Given the description of an element on the screen output the (x, y) to click on. 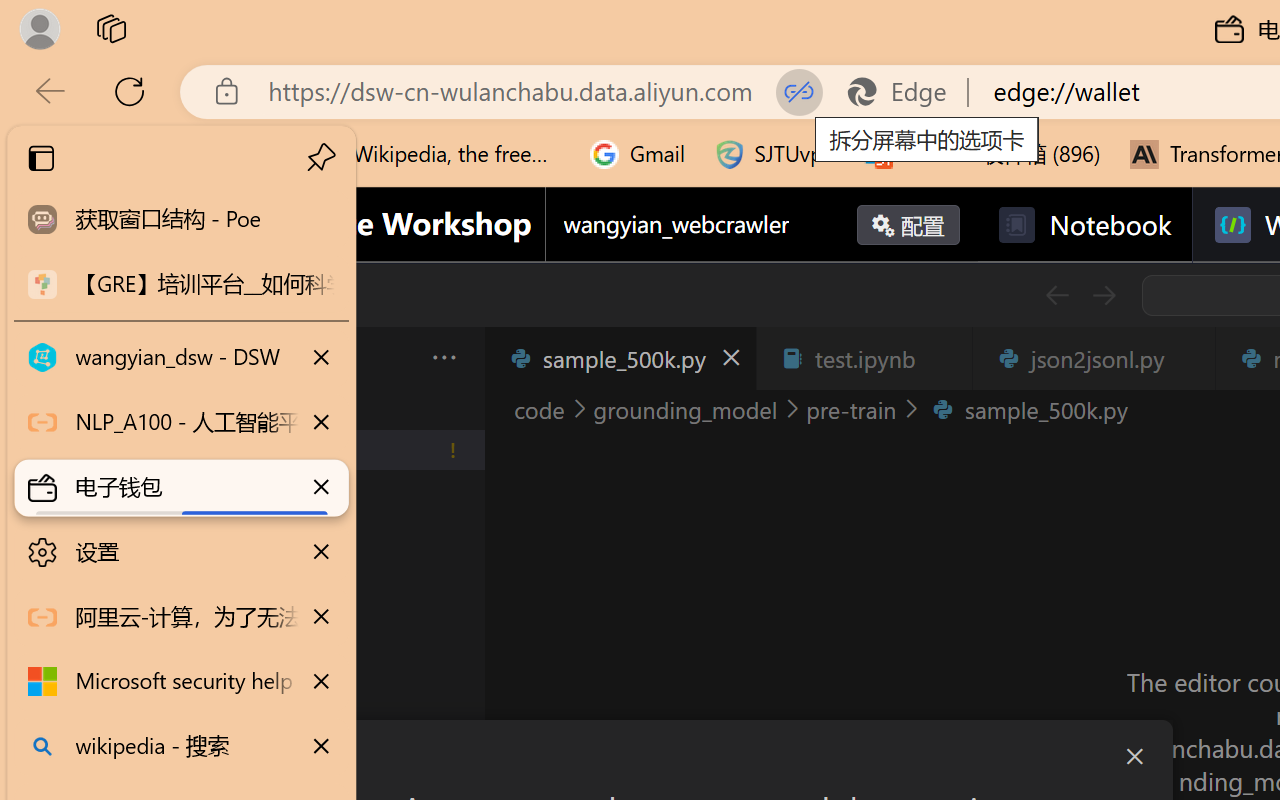
Views and More Actions... (442, 357)
json2jsonl.py (1092, 358)
Explorer actions (391, 358)
Application Menu (135, 358)
Notebook (1083, 225)
Wikipedia, the free encyclopedia (437, 154)
Explorer (Ctrl+Shift+E) (135, 432)
sample_500k.py (619, 358)
